Given the description of an element on the screen output the (x, y) to click on. 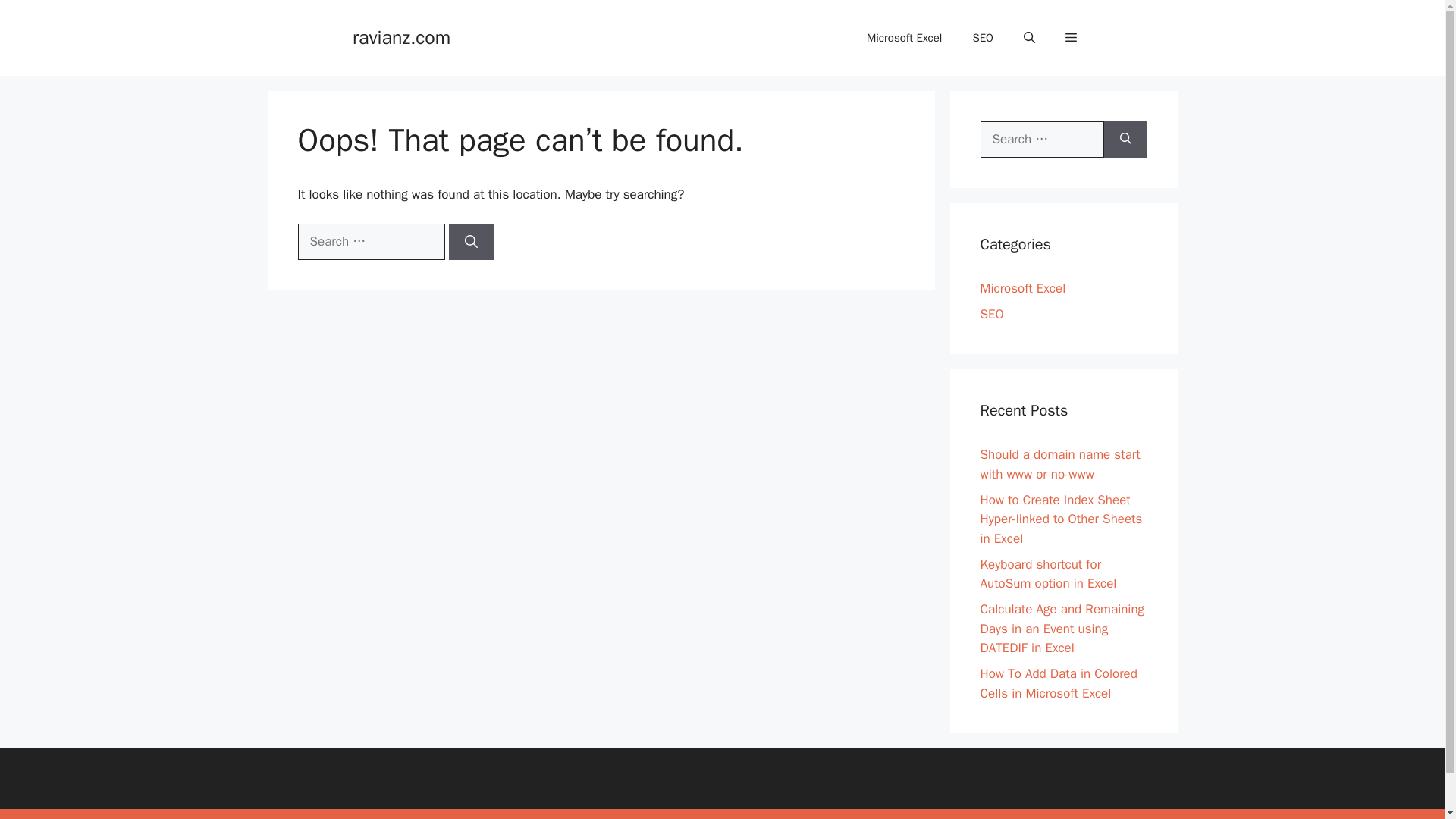
Search for: (1041, 139)
How To Add Data in Colored Cells in Microsoft Excel (1058, 683)
Microsoft Excel (903, 37)
SEO (991, 314)
Should a domain name start with www or no-www (1059, 464)
Microsoft Excel (1022, 288)
ravianz.com (400, 37)
Search for: (370, 241)
